Given the description of an element on the screen output the (x, y) to click on. 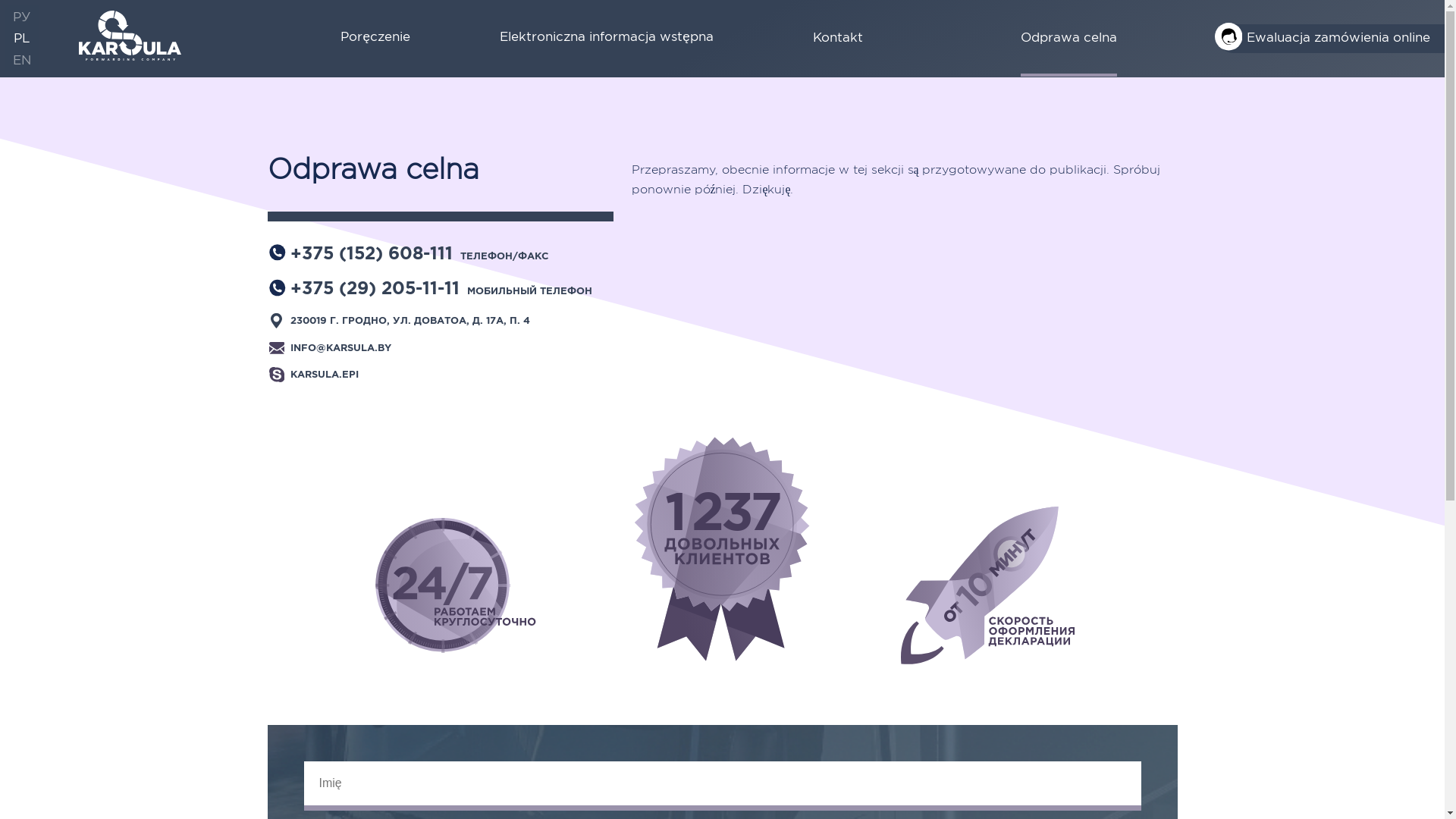
Odprawa celna Element type: text (1068, 38)
EN Element type: text (21, 59)
KARSULA.EPI Element type: text (324, 377)
PL Element type: text (21, 37)
INFO@KARSULA.BY Element type: text (340, 350)
Kontakt Element type: text (837, 38)
